Given the description of an element on the screen output the (x, y) to click on. 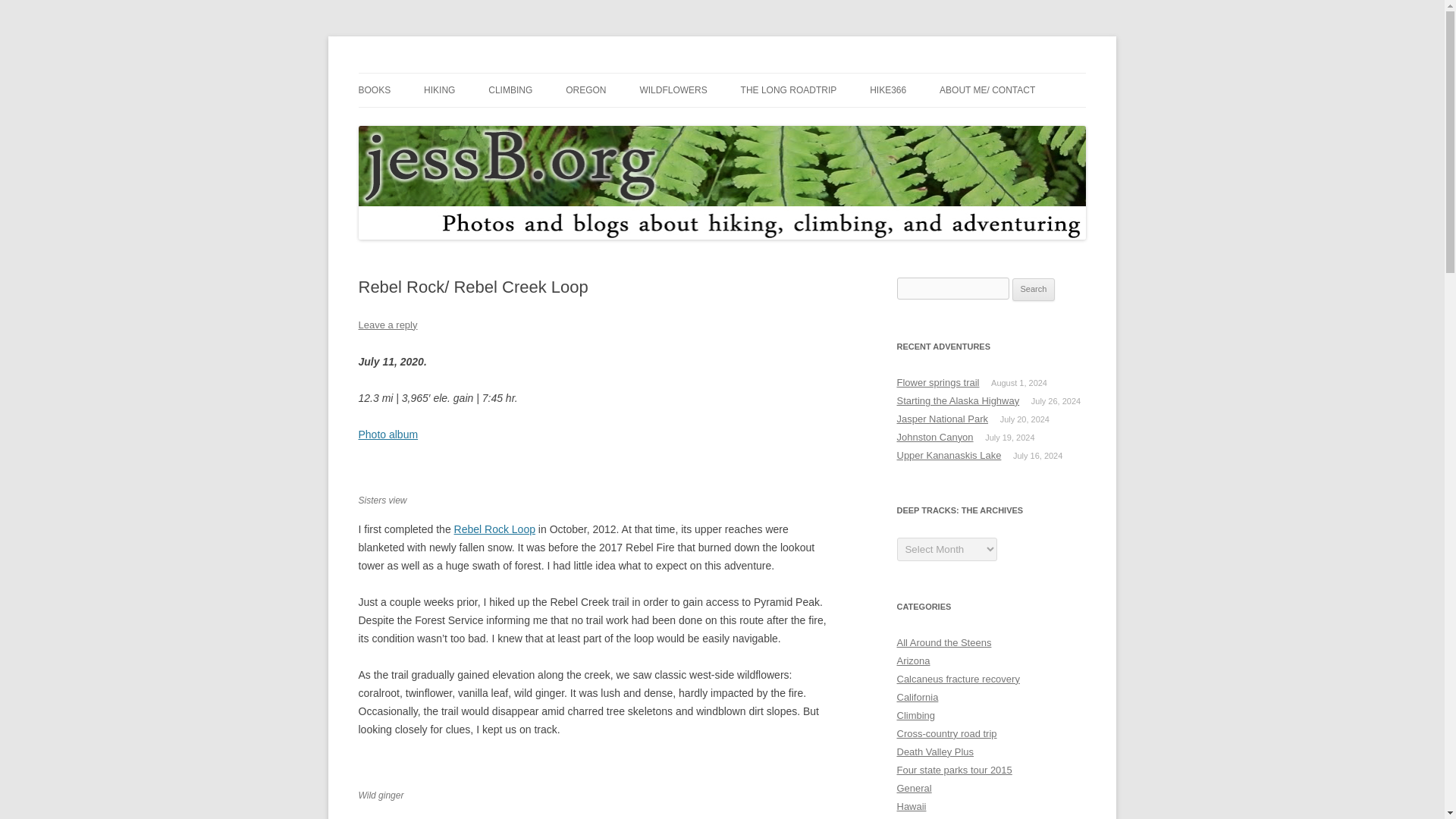
Cross-country road trip (945, 733)
CLIMBING (509, 90)
California (916, 696)
Flower springs trail (937, 382)
Jasper National Park (942, 419)
OREGON (585, 90)
Jessb.org (404, 72)
HIKING (438, 90)
Photo album (387, 434)
Starting the Alaska Highway (957, 400)
